Given the description of an element on the screen output the (x, y) to click on. 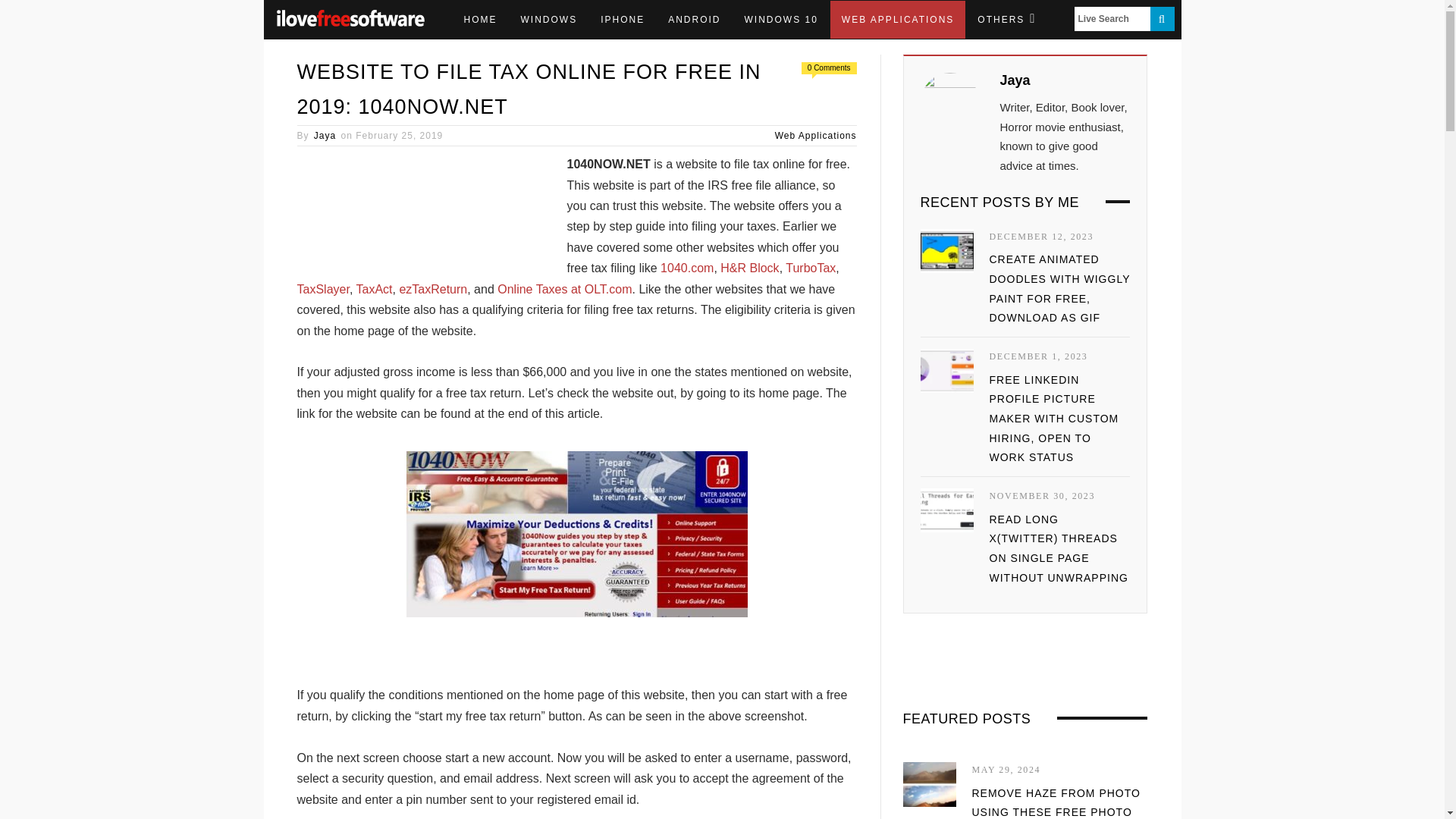
TaxSlayer (323, 288)
Online Taxes at OLT.com (564, 288)
1040.com (687, 267)
Website to File Tax Online for Free in 2019: TaxSlayer (323, 288)
Posts by Jaya (1013, 80)
ezTaxReturn (432, 288)
WINDOWS 10 (781, 19)
ANDROID (694, 19)
